Given the description of an element on the screen output the (x, y) to click on. 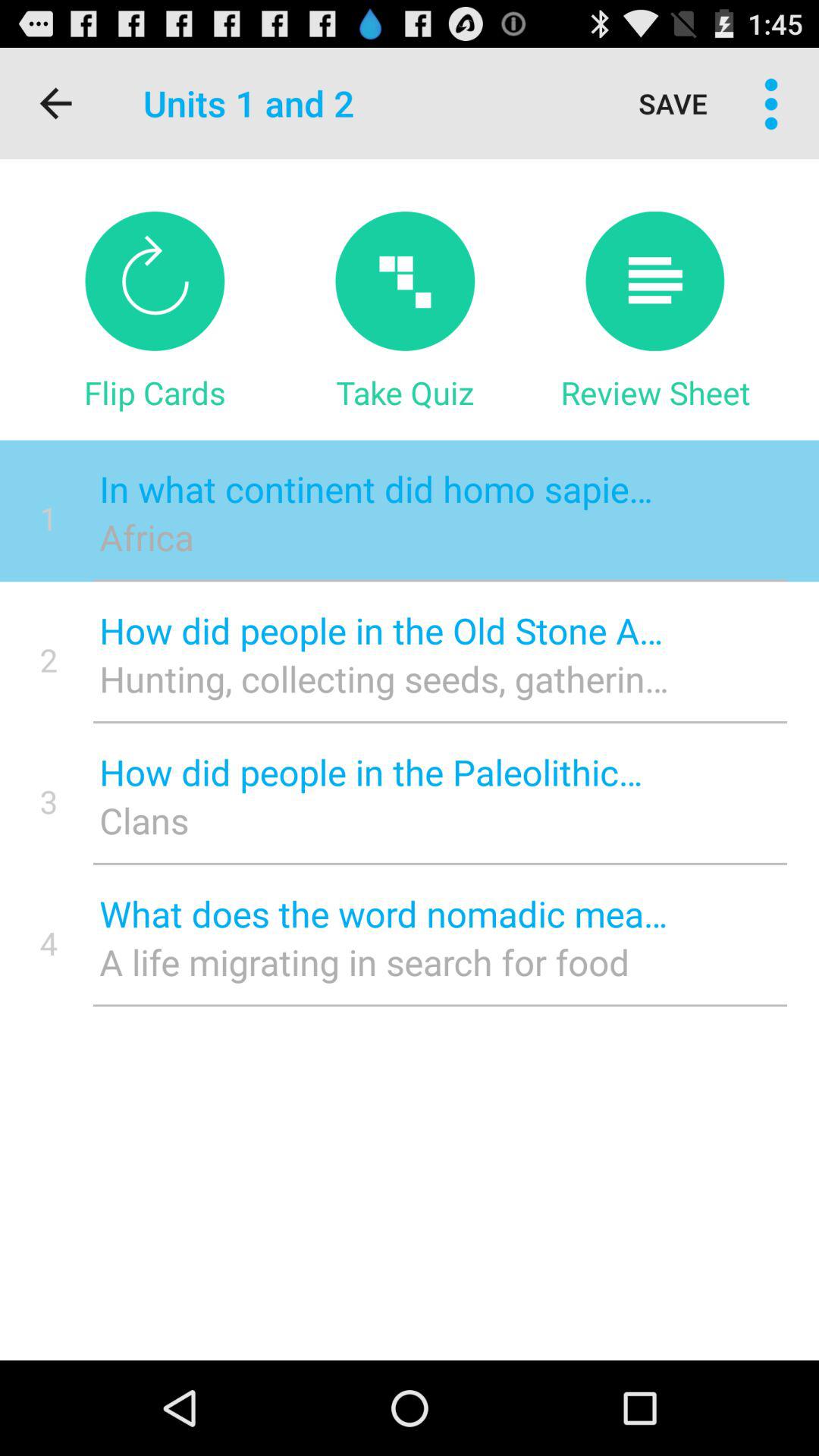
take quizz (404, 280)
